Given the description of an element on the screen output the (x, y) to click on. 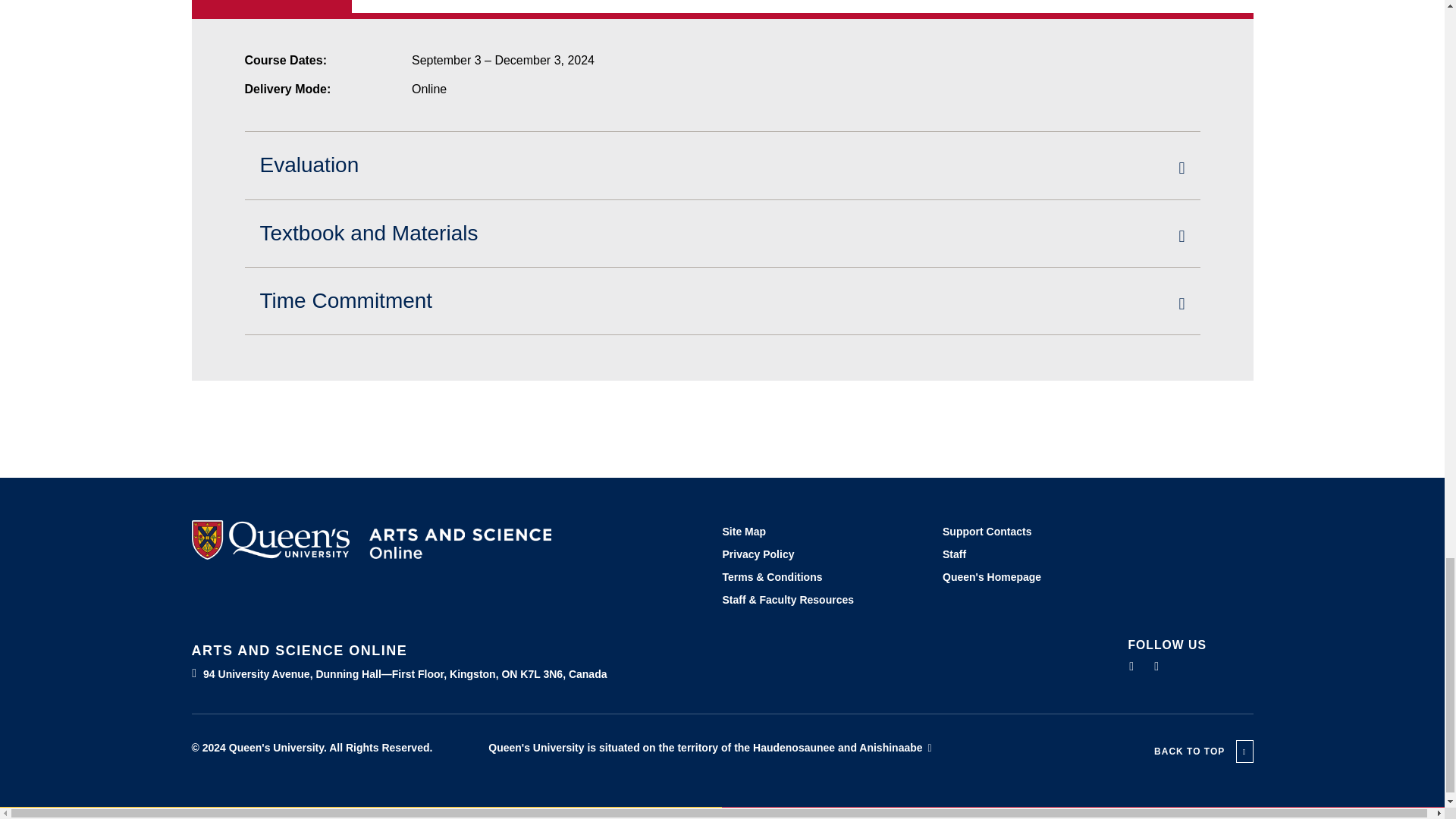
Home (460, 543)
Queen's University (274, 539)
